Given the description of an element on the screen output the (x, y) to click on. 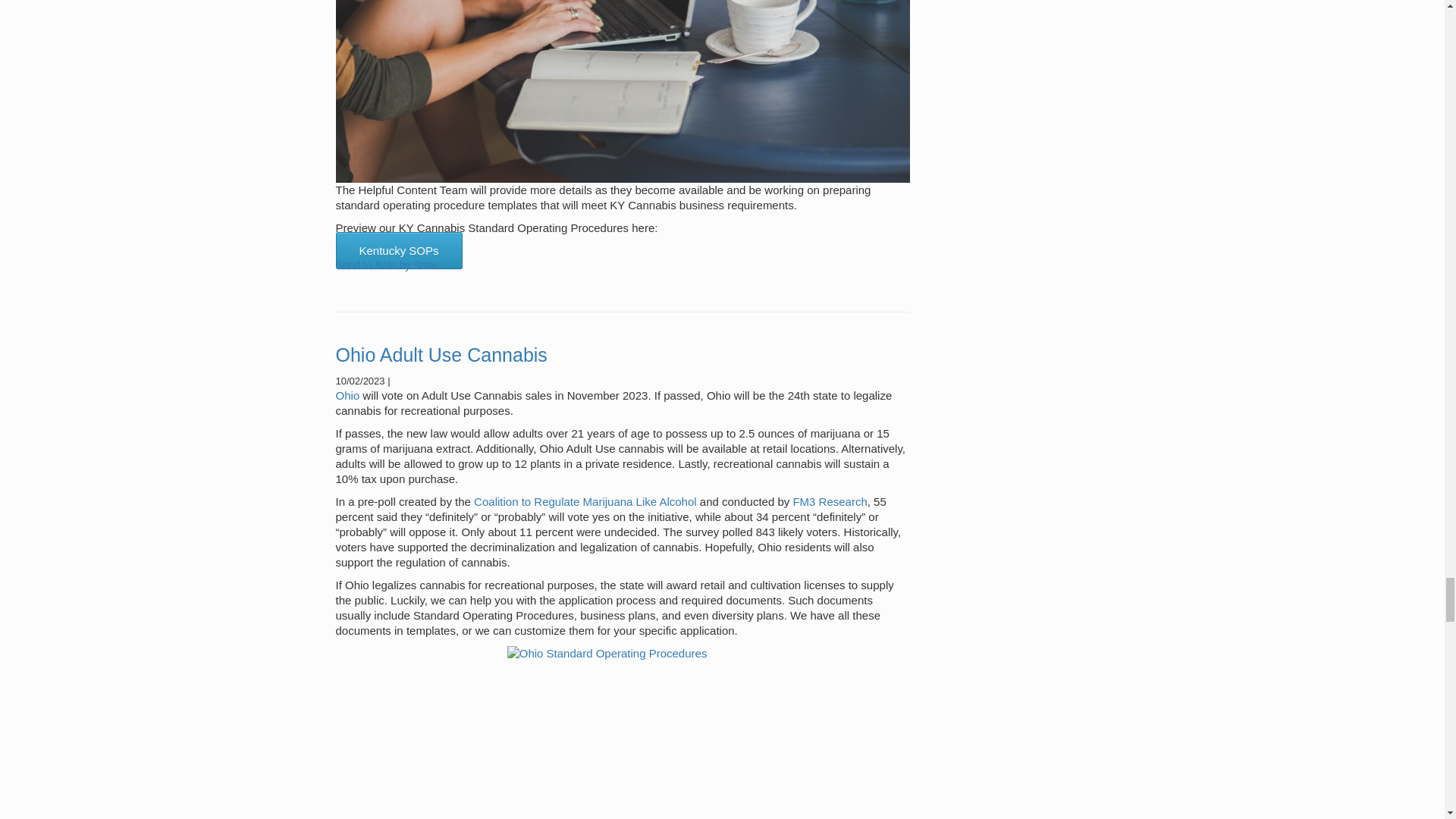
Ohio Adult Use Cannabis (440, 354)
